Given the description of an element on the screen output the (x, y) to click on. 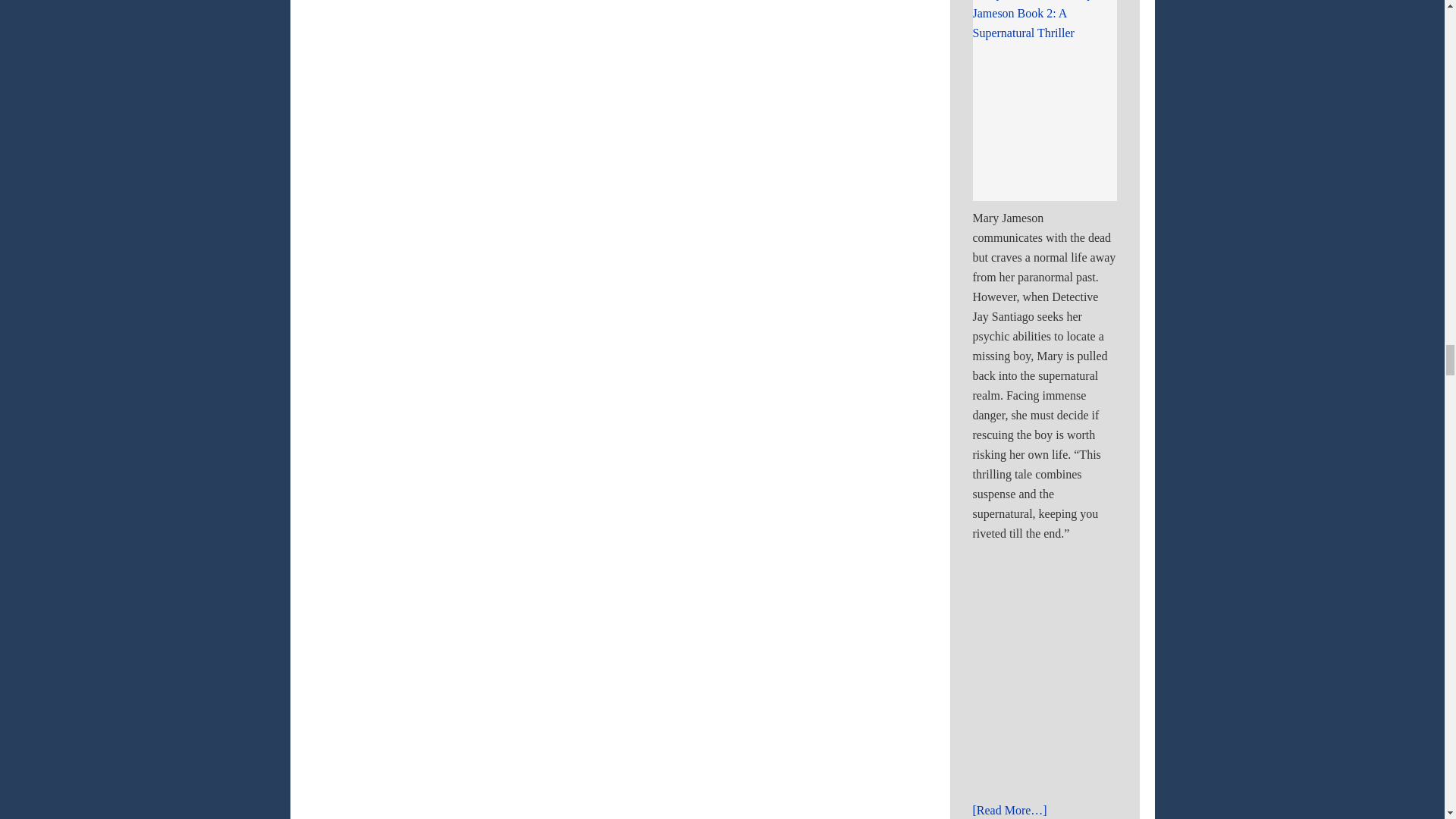
PSYCHIC ECHOES HD mp4 1 (1161, 668)
